Given the description of an element on the screen output the (x, y) to click on. 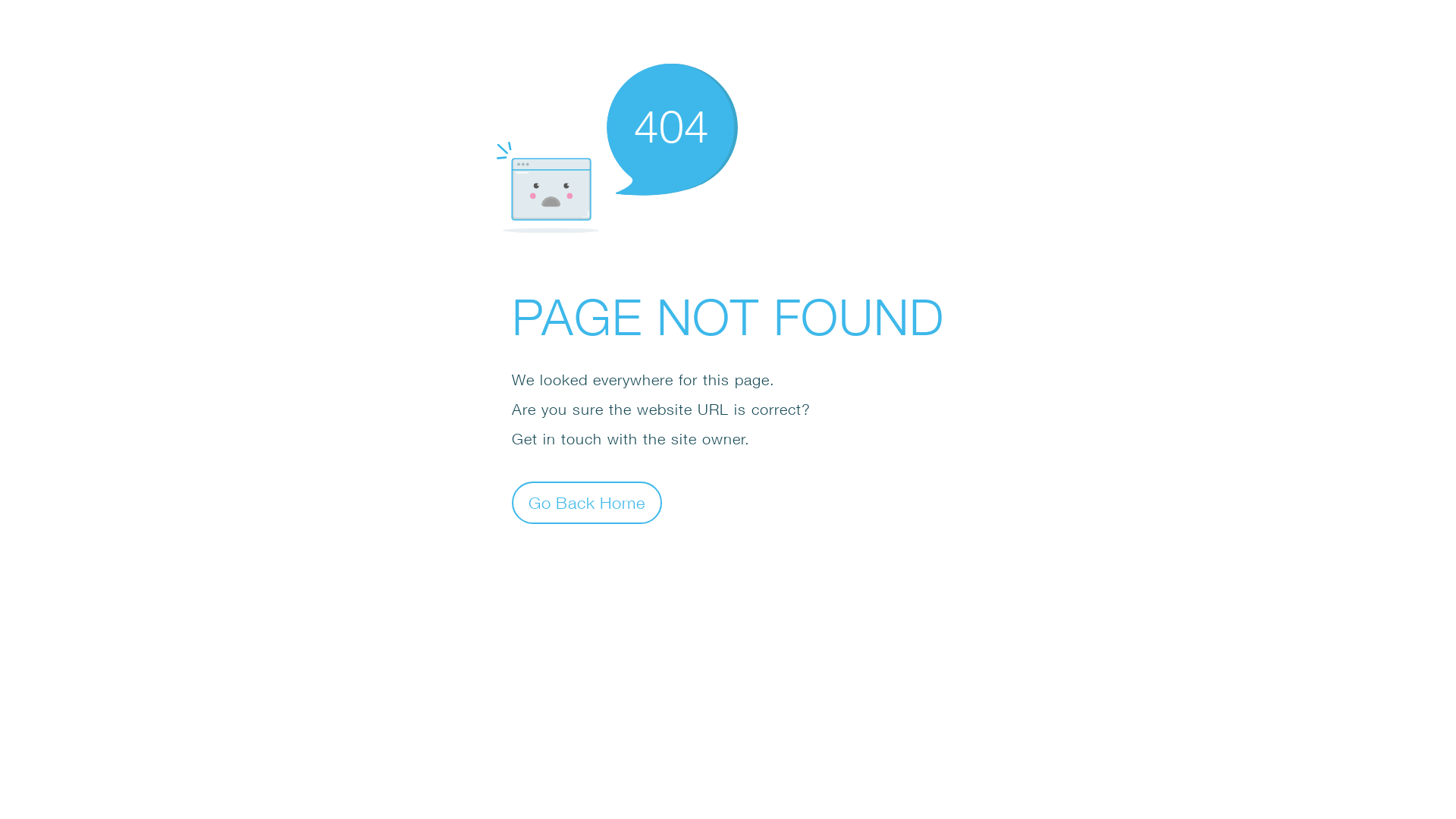
Go Back Home Element type: text (586, 502)
